Given the description of an element on the screen output the (x, y) to click on. 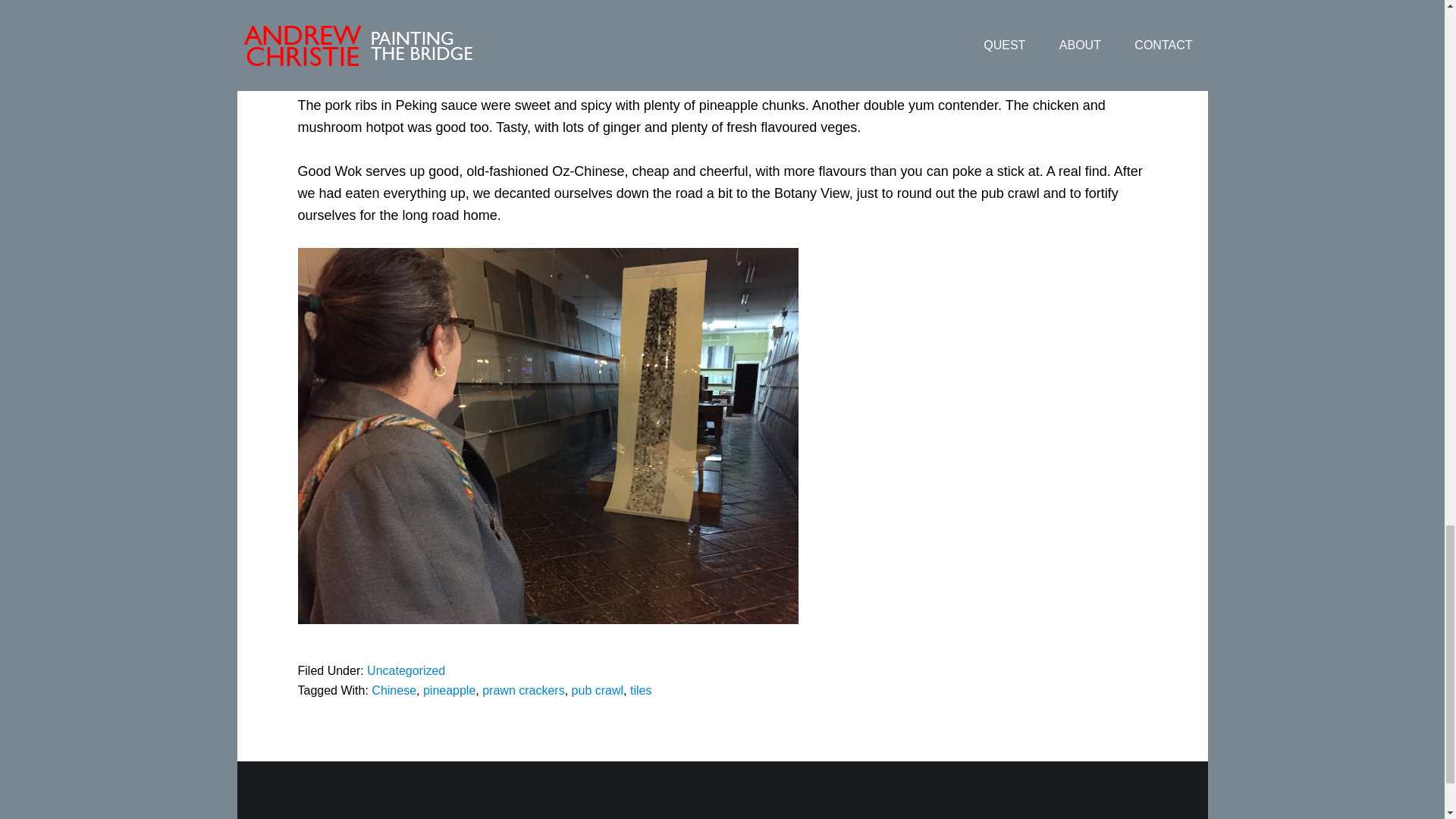
prawn crackers (522, 689)
pub crawl (597, 689)
pineapple (449, 689)
Uncategorized (405, 670)
tiles (640, 689)
Chinese (393, 689)
